Given the description of an element on the screen output the (x, y) to click on. 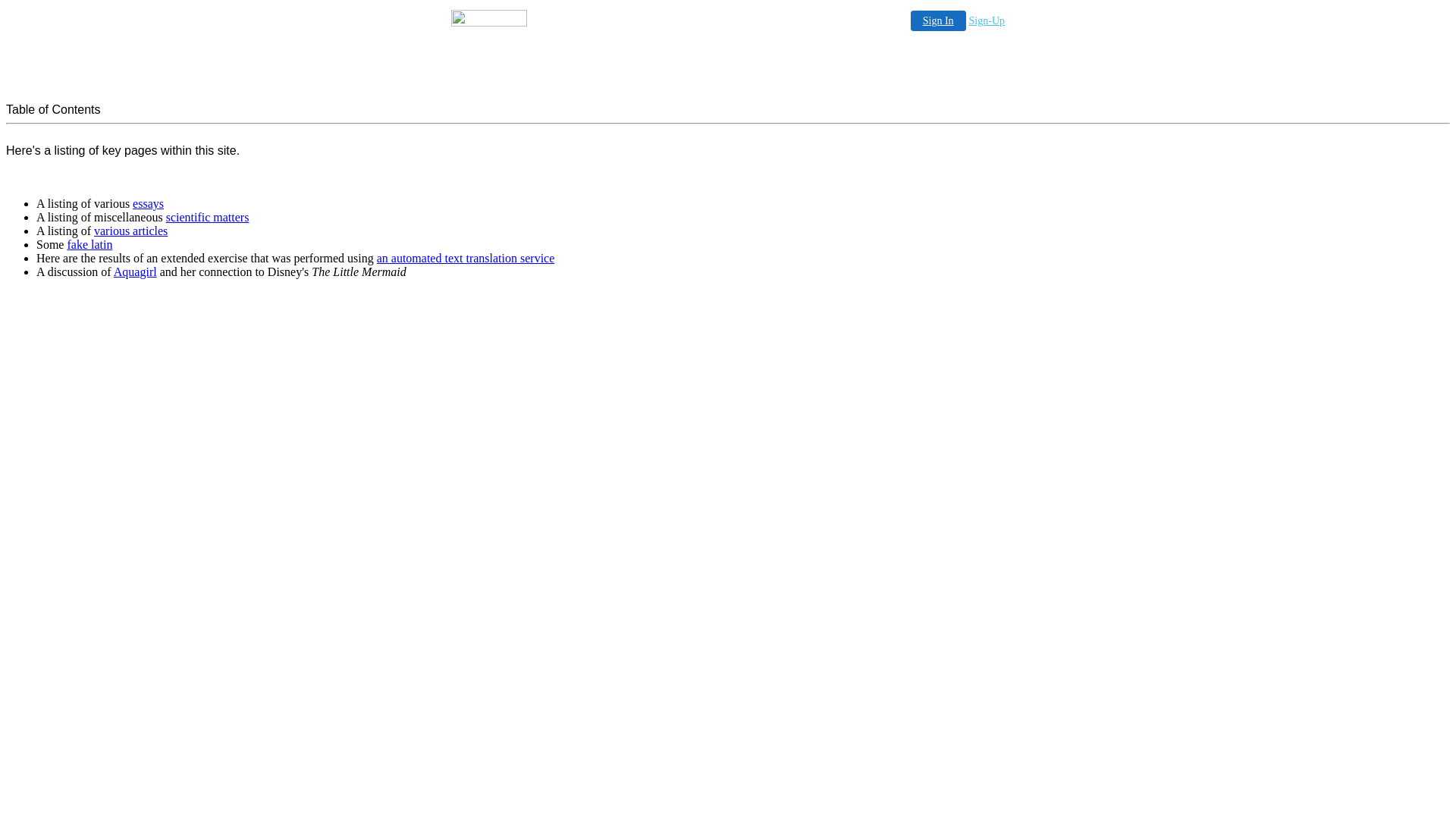
Aquagirl Element type: text (134, 271)
scientific matters Element type: text (207, 216)
fake latin Element type: text (89, 244)
various articles Element type: text (130, 230)
Sign In Element type: text (938, 20)
essays Element type: text (147, 203)
Sign-Up Element type: text (986, 20)
an automated text translation service Element type: text (465, 257)
